Given the description of an element on the screen output the (x, y) to click on. 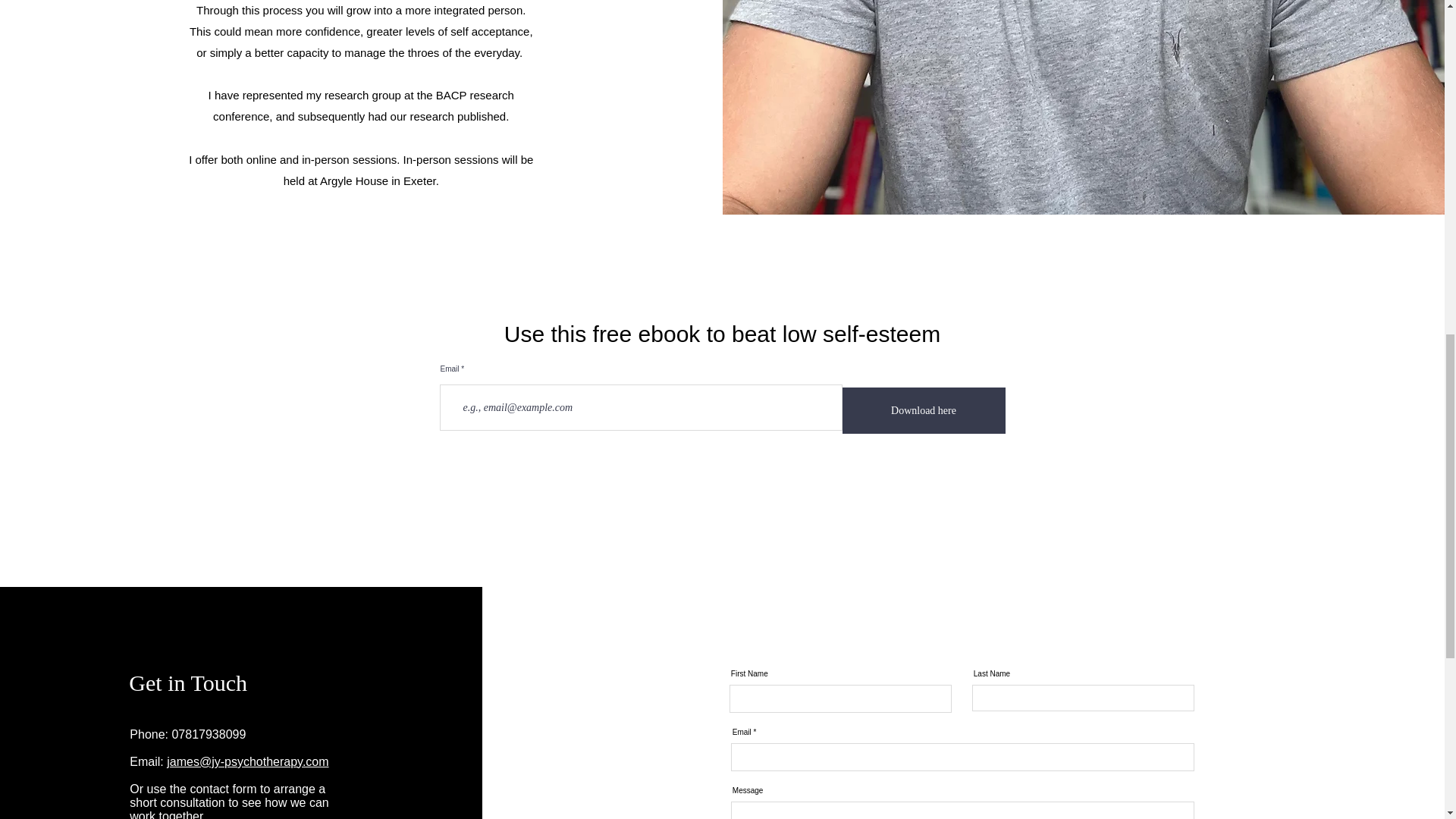
Download here (922, 410)
